Given the description of an element on the screen output the (x, y) to click on. 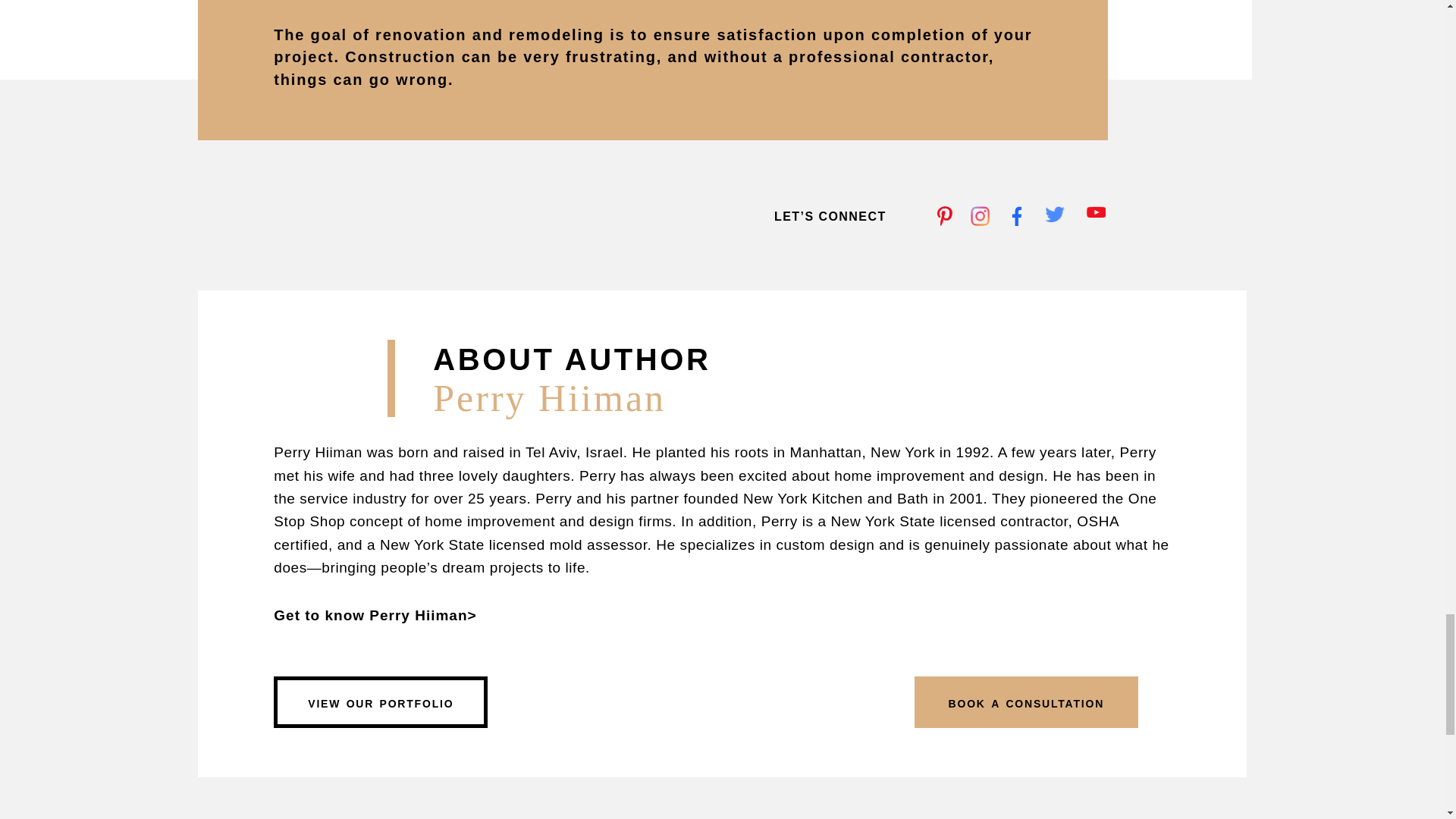
Follow on Youtube (1095, 216)
Follow on Facebook (1020, 216)
Follow on Pinterest (946, 216)
Follow on Instagram (980, 216)
Follow on X (1054, 216)
